Given the description of an element on the screen output the (x, y) to click on. 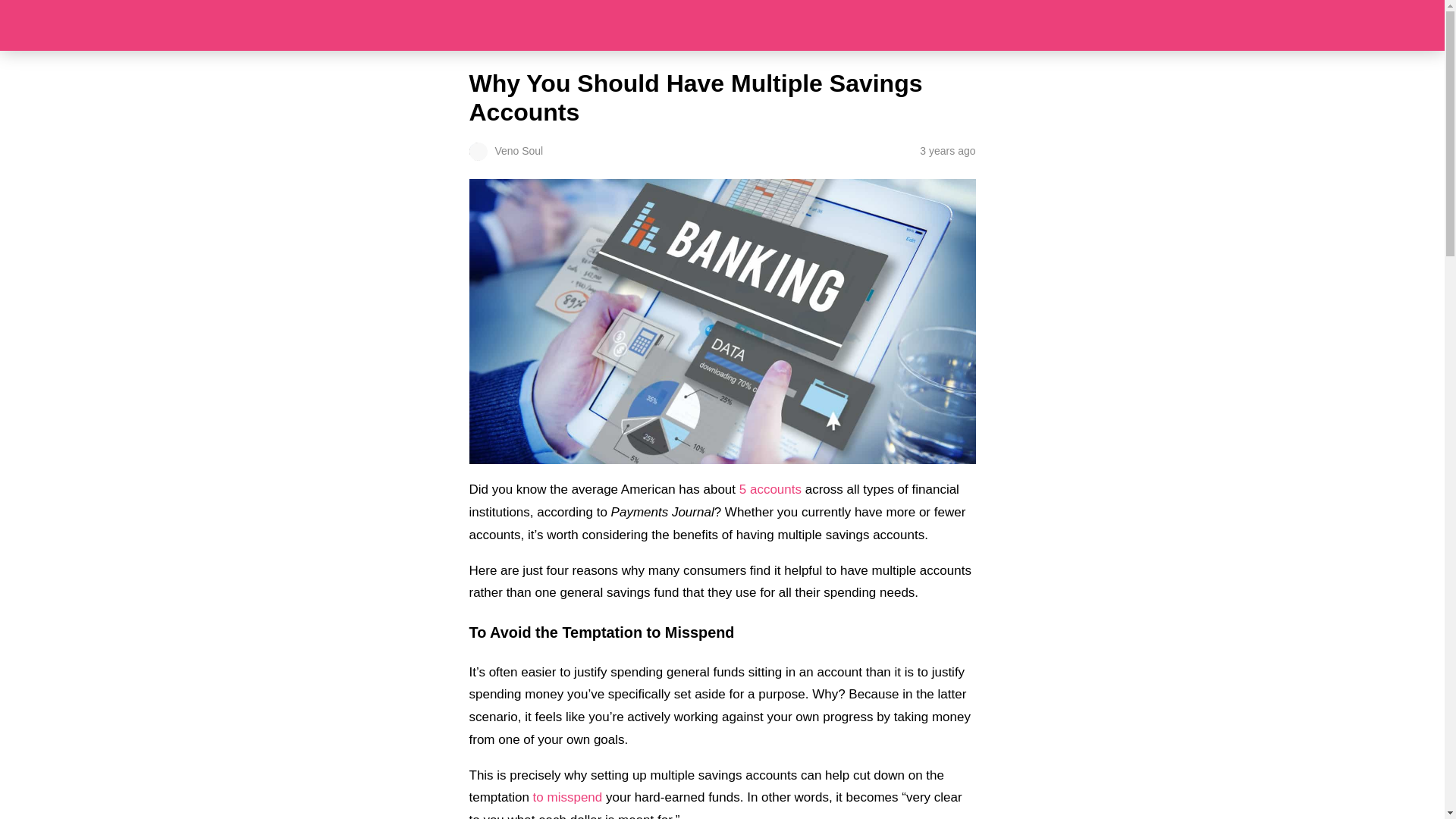
AllNetArticles (721, 25)
to misspend (567, 797)
5 accounts (770, 489)
